Given the description of an element on the screen output the (x, y) to click on. 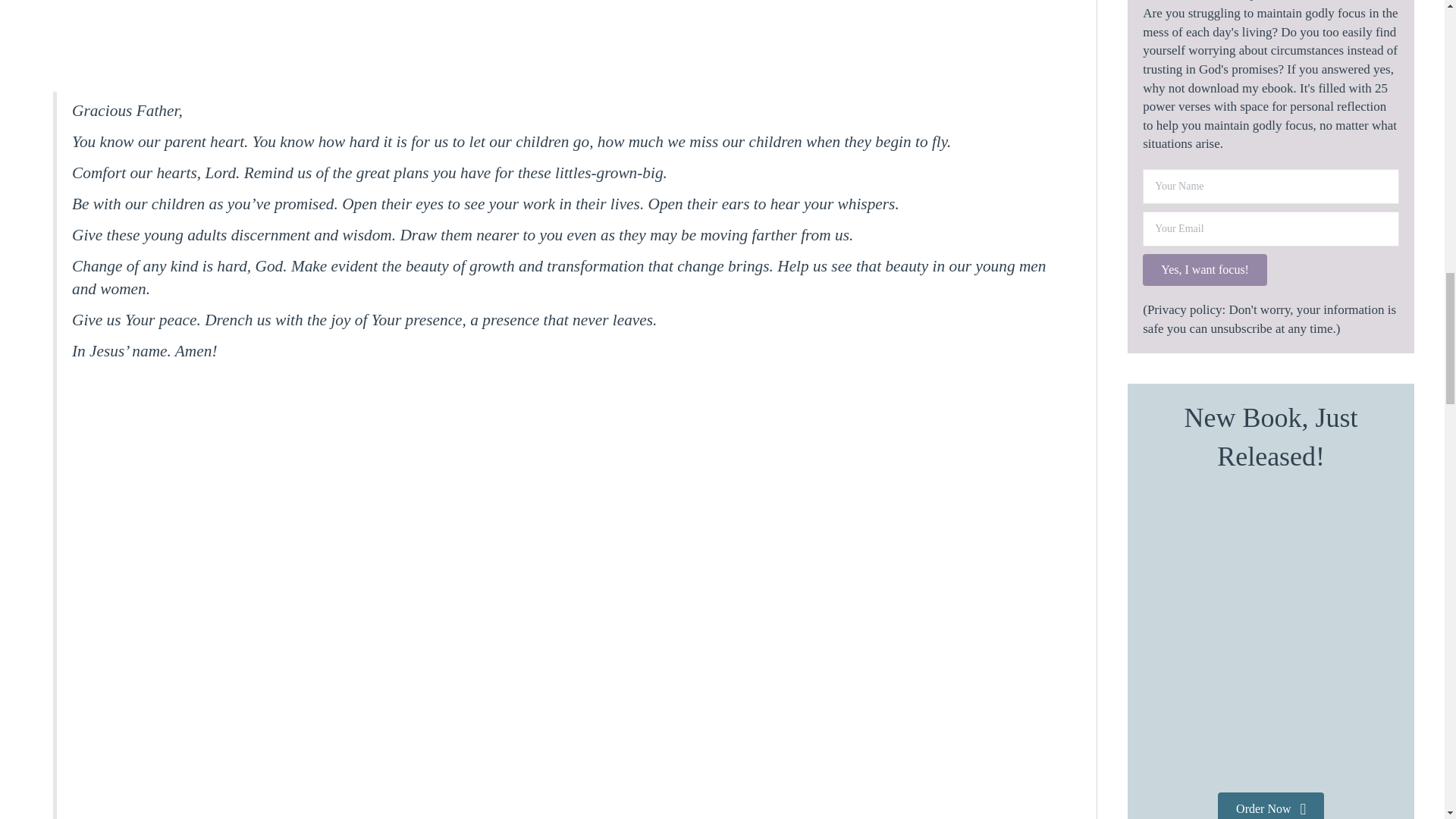
Click Here (1204, 269)
